Given the description of an element on the screen output the (x, y) to click on. 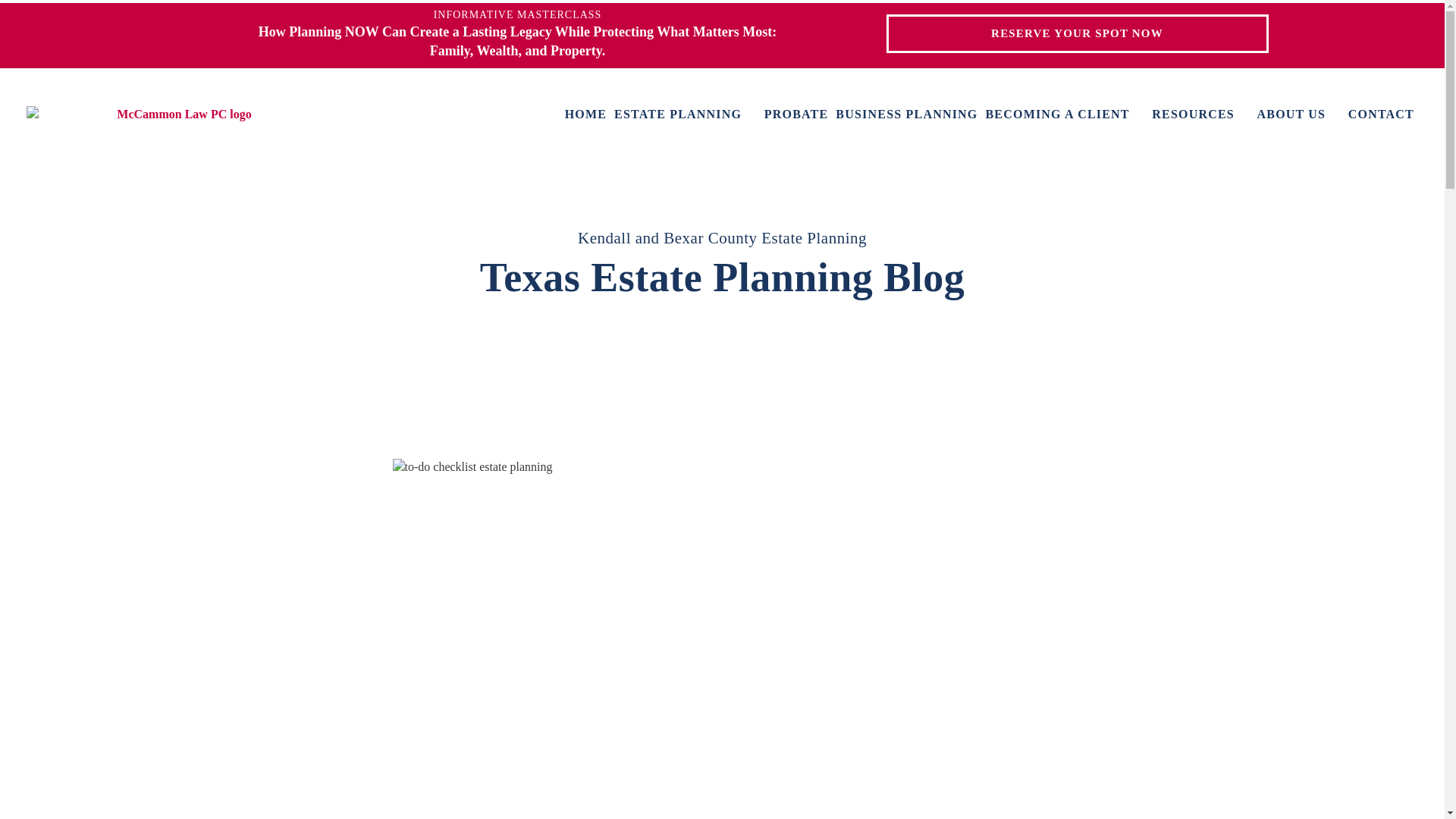
ABOUT US (1298, 114)
pexels-breakingpic-3243 (722, 466)
BUSINESS PLANNING (905, 114)
HOME (585, 114)
ESTATE PLANNING (685, 114)
CONTACT (1380, 114)
PROBATE (796, 114)
BECOMING A CLIENT (1064, 114)
McCammon Law, P.C. (178, 114)
RESOURCES (1200, 114)
